Given the description of an element on the screen output the (x, y) to click on. 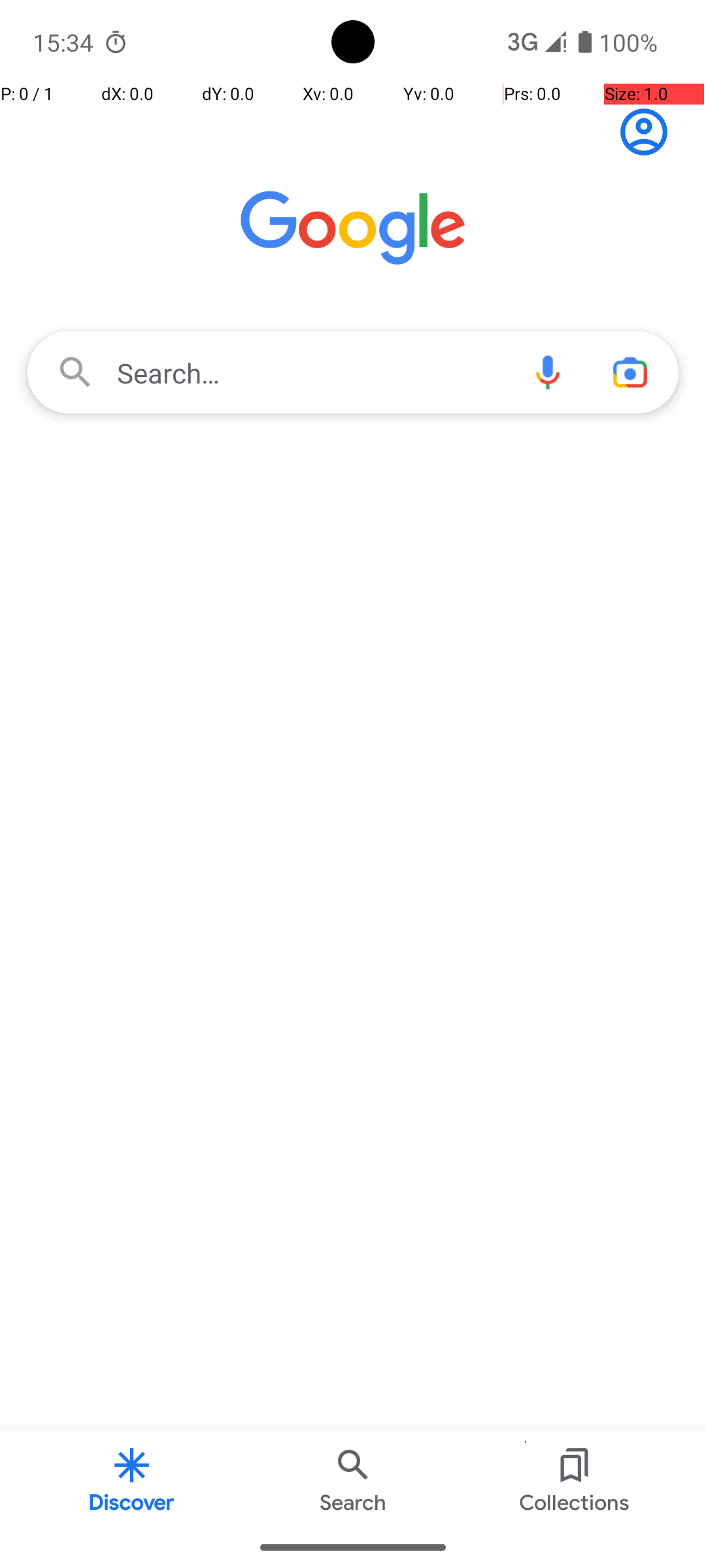
Sign in Element type: android.widget.FrameLayout (650, 131)
Search… Element type: android.view.ViewGroup (352, 372)
Camera search Element type: android.widget.ImageButton (629, 372)
Discover Element type: android.widget.FrameLayout (131, 1478)
Collections Button Element type: android.widget.FrameLayout (574, 1478)
